Given the description of an element on the screen output the (x, y) to click on. 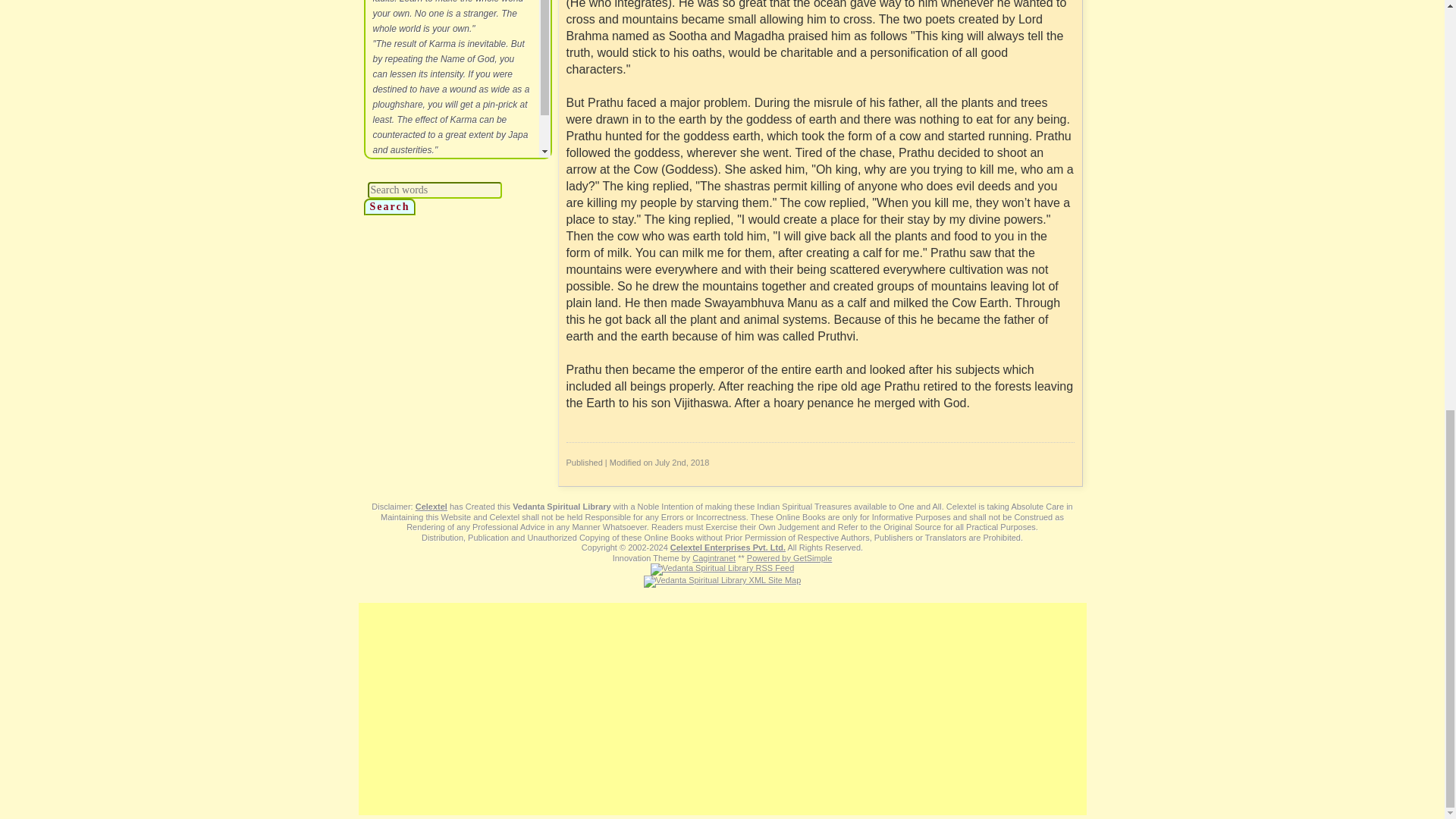
Search (390, 207)
Search (390, 207)
